Given the description of an element on the screen output the (x, y) to click on. 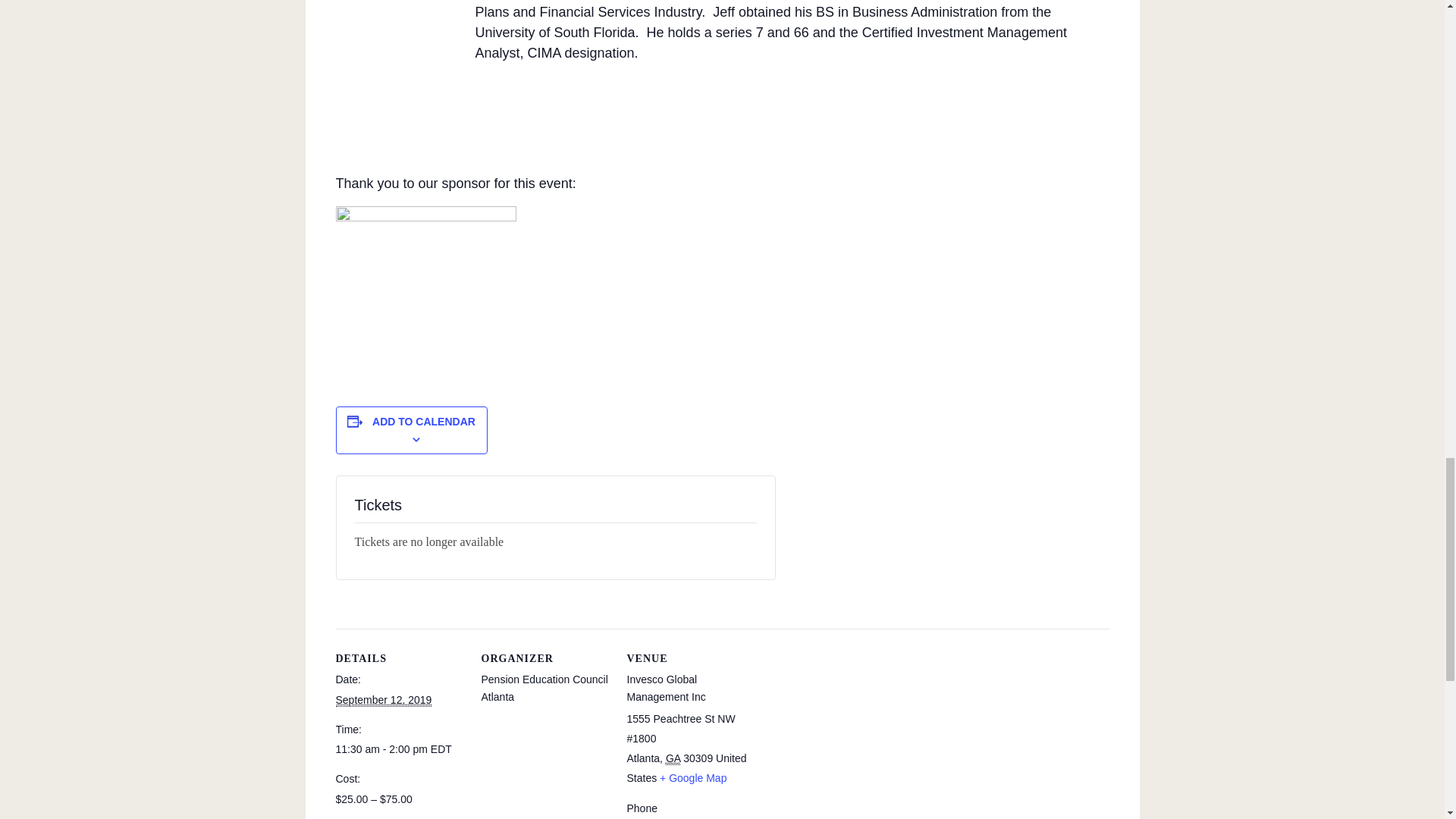
Georgia (672, 758)
ADD TO CALENDAR (424, 421)
Click to view a Google Map (692, 777)
2019-09-12 (398, 749)
2019-09-12 (382, 699)
